Given the description of an element on the screen output the (x, y) to click on. 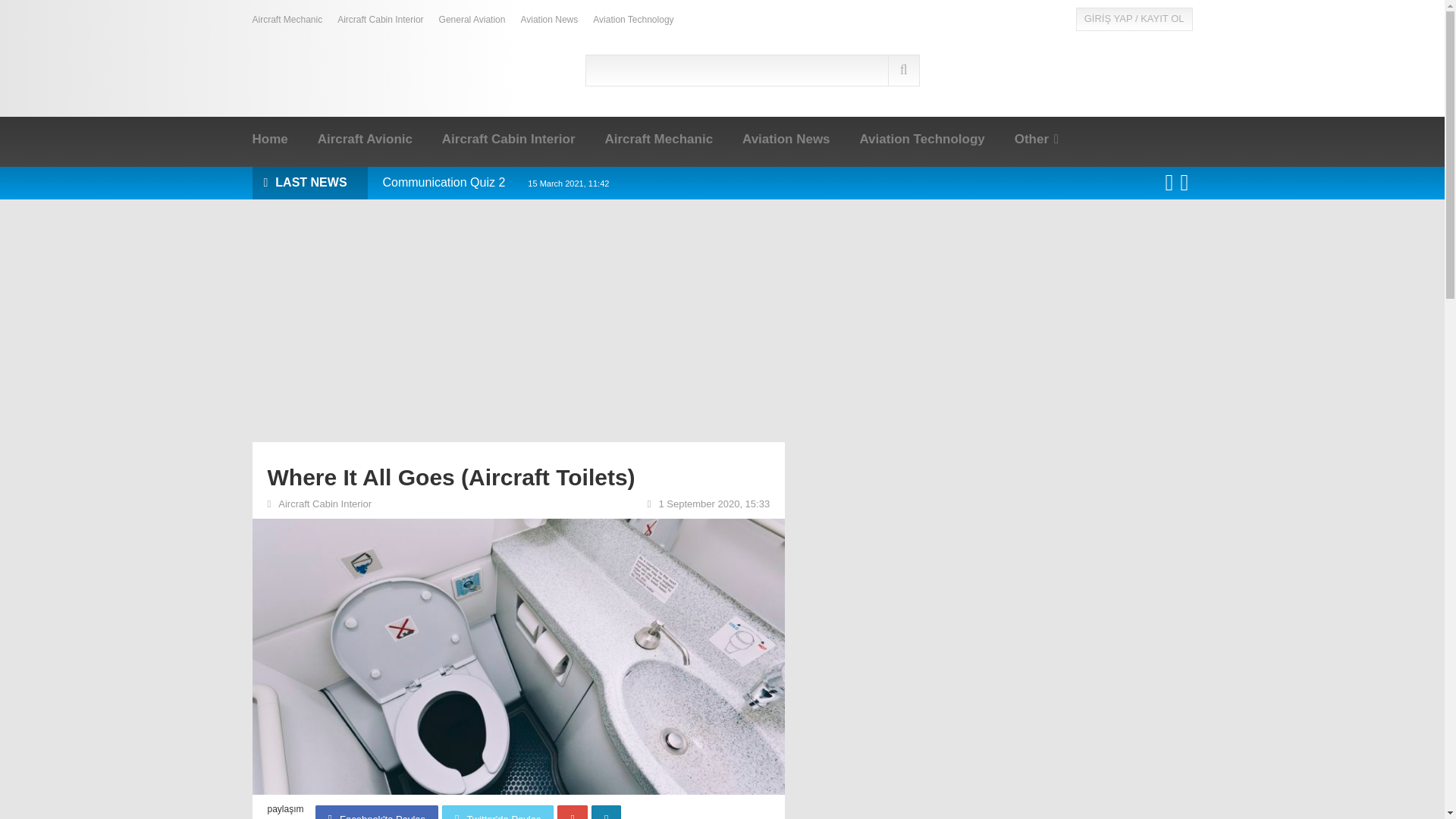
General Aviation (472, 19)
Aviation News (785, 139)
Aviation News (548, 19)
Ara (904, 70)
Communication Quiz 2 (494, 182)
Aviation Technology (921, 139)
Aircraft Avionic (364, 139)
Communication Quiz 215 March 2021, 11:42 (494, 182)
Aircraft Mechanic (658, 139)
Aircraft Cabin Interior (508, 139)
Aviation Technology (632, 19)
Aircraft Cabin Interior (380, 19)
Aircraft Mechanic (286, 19)
Other (1036, 139)
